Given the description of an element on the screen output the (x, y) to click on. 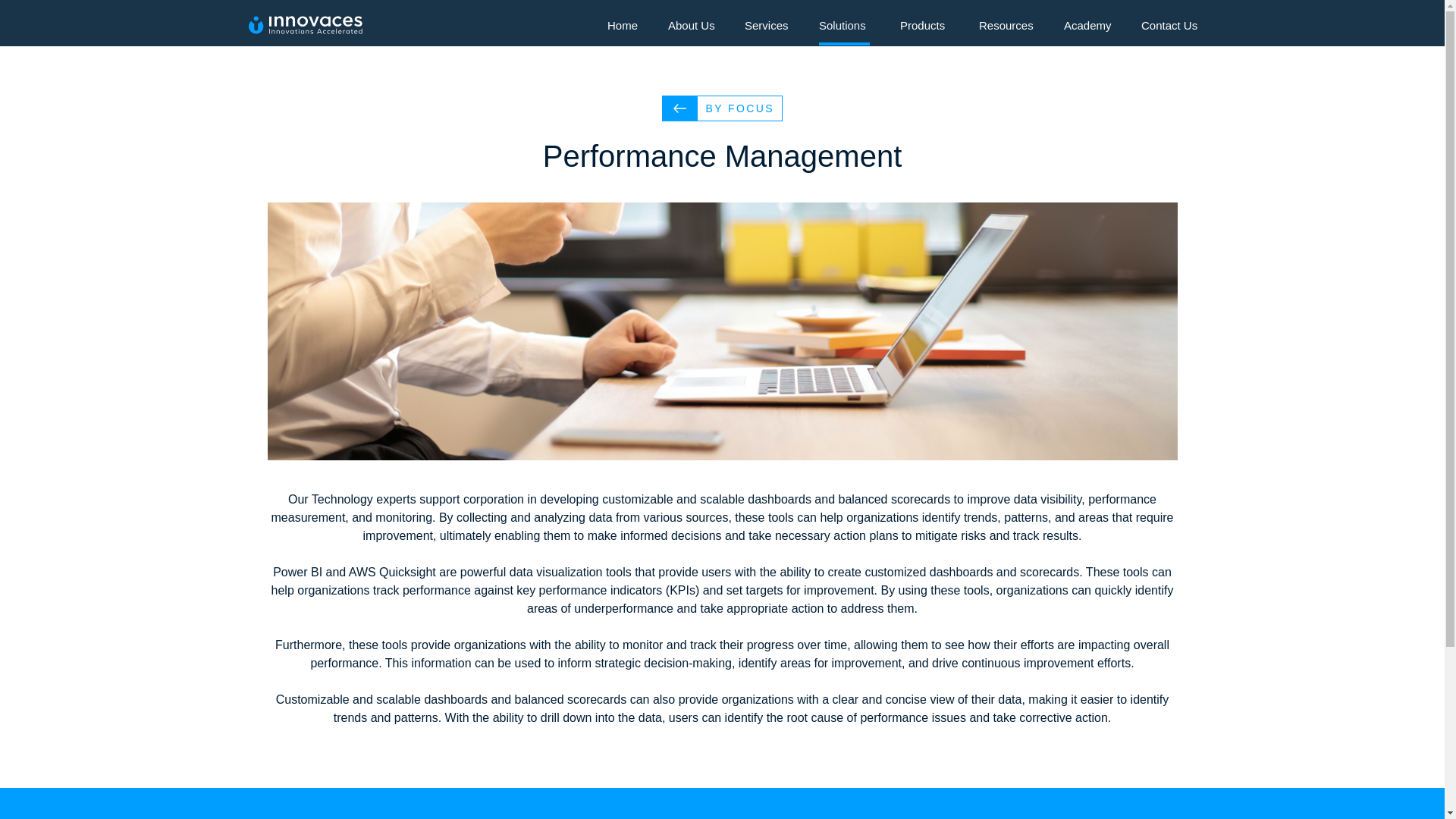
Products (924, 28)
Academy (1088, 28)
Contact Us (1168, 28)
Resources (1005, 28)
Solutions (843, 28)
About Us (691, 28)
Services (766, 28)
